Given the description of an element on the screen output the (x, y) to click on. 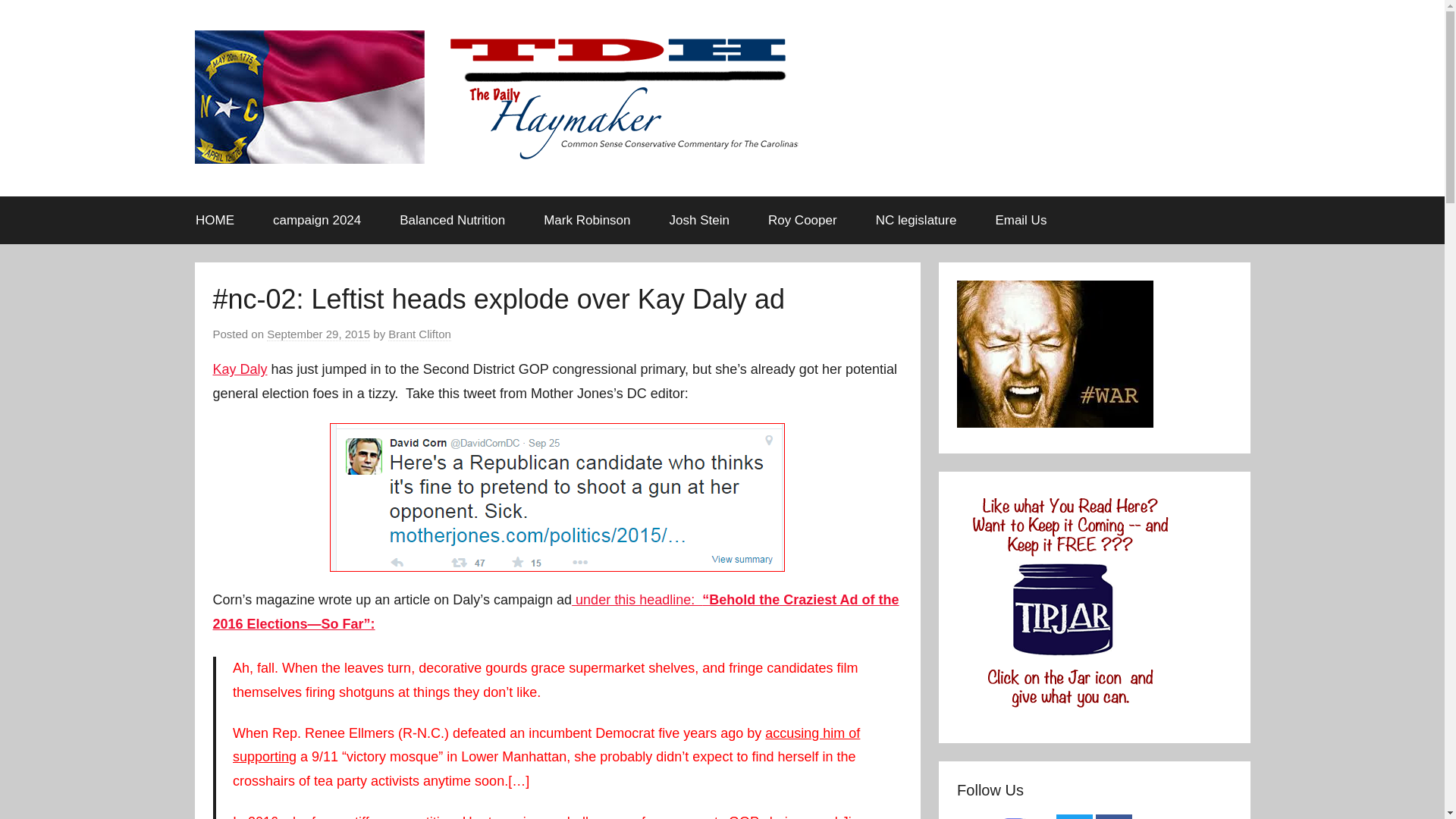
September 29, 2015 (317, 334)
Email Us (1020, 219)
NC legislature (915, 219)
HOME (214, 219)
accusing him of supporting (546, 744)
Brant Clifton (419, 334)
fb (1114, 816)
Josh Stein (698, 219)
Roy Cooper (802, 219)
twitter (1075, 816)
Balanced Nutrition (452, 219)
View all posts by Brant Clifton (419, 334)
campaign 2024 (316, 219)
Mark Robinson (586, 219)
